Given the description of an element on the screen output the (x, y) to click on. 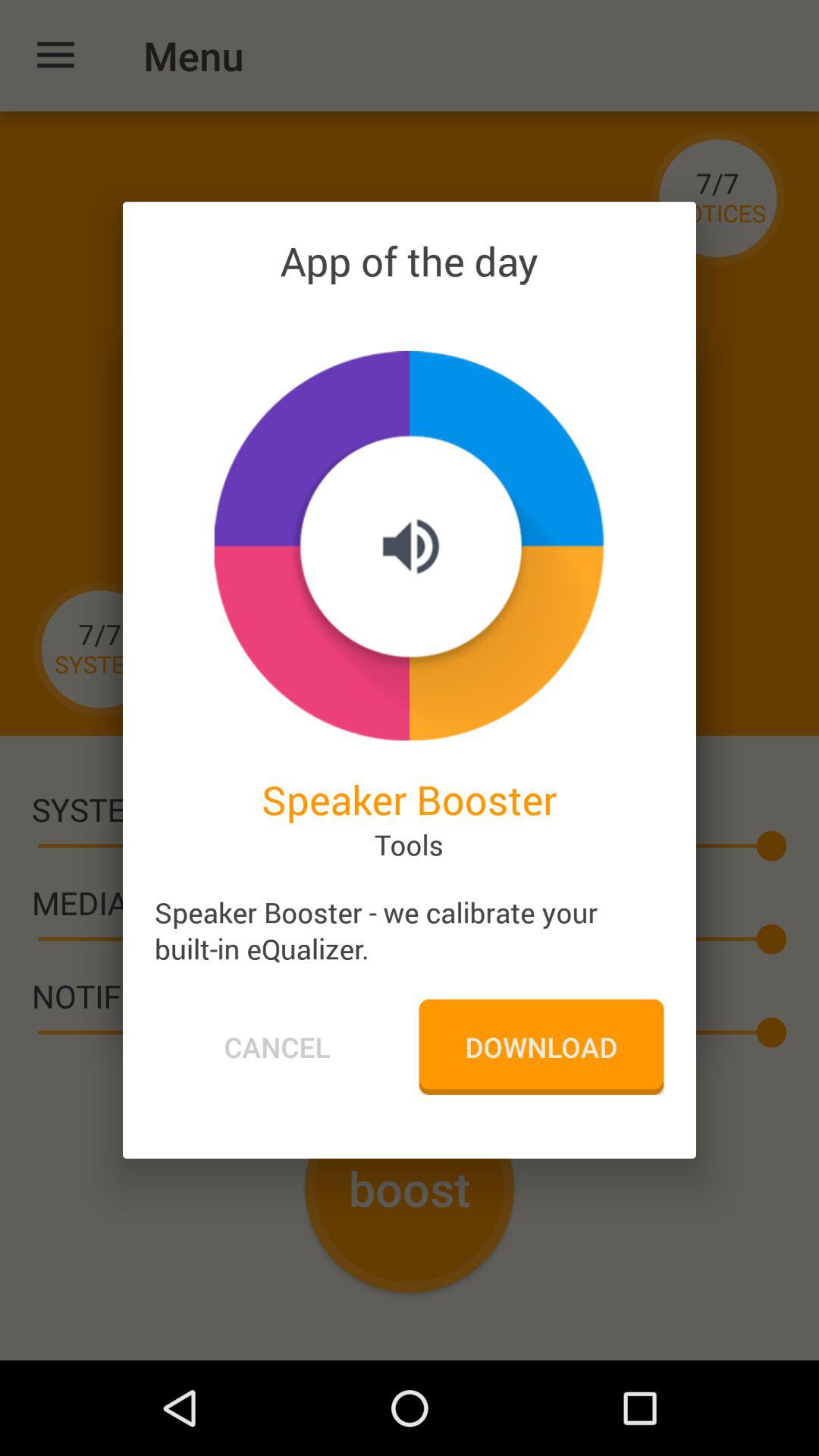
press the item to the right of the cancel icon (541, 1046)
